Given the description of an element on the screen output the (x, y) to click on. 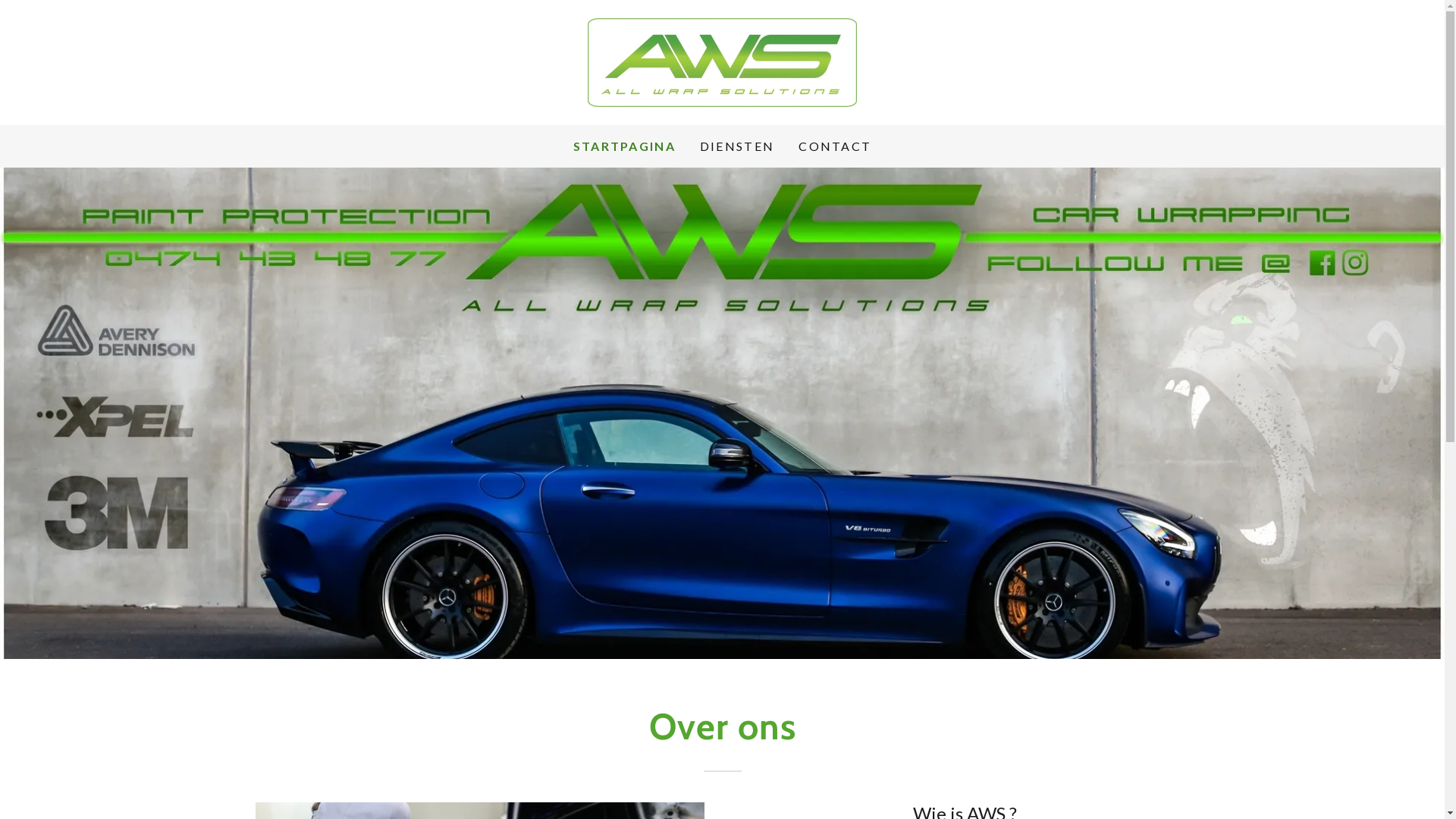
DIENSTEN Element type: text (736, 146)
All Wrap Solutions Element type: hover (721, 60)
CONTACT Element type: text (834, 146)
STARTPAGINA Element type: text (624, 146)
